Given the description of an element on the screen output the (x, y) to click on. 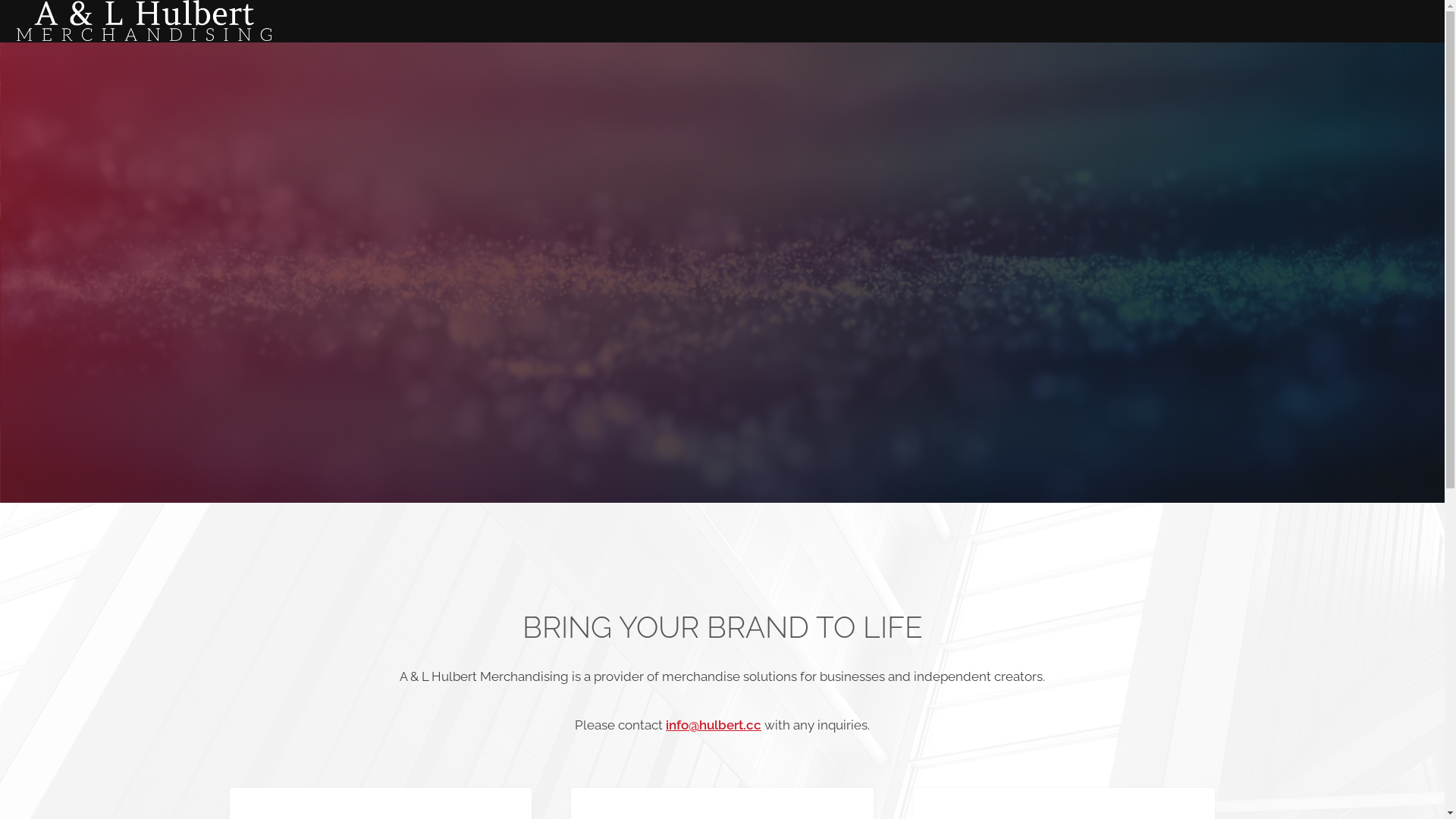
info@hulbert.cc Element type: text (713, 724)
